Given the description of an element on the screen output the (x, y) to click on. 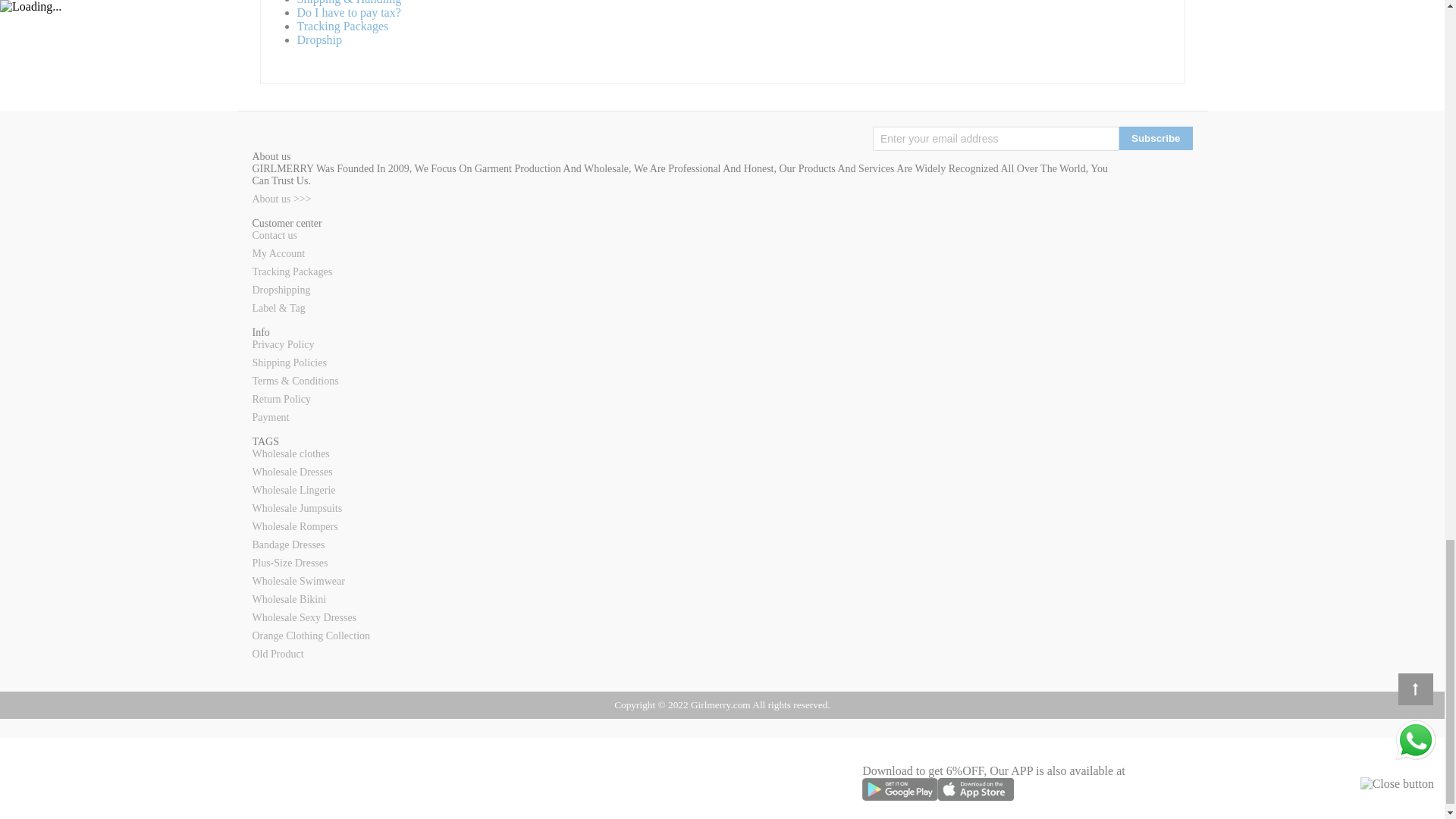
Subscribe (1155, 137)
